Given the description of an element on the screen output the (x, y) to click on. 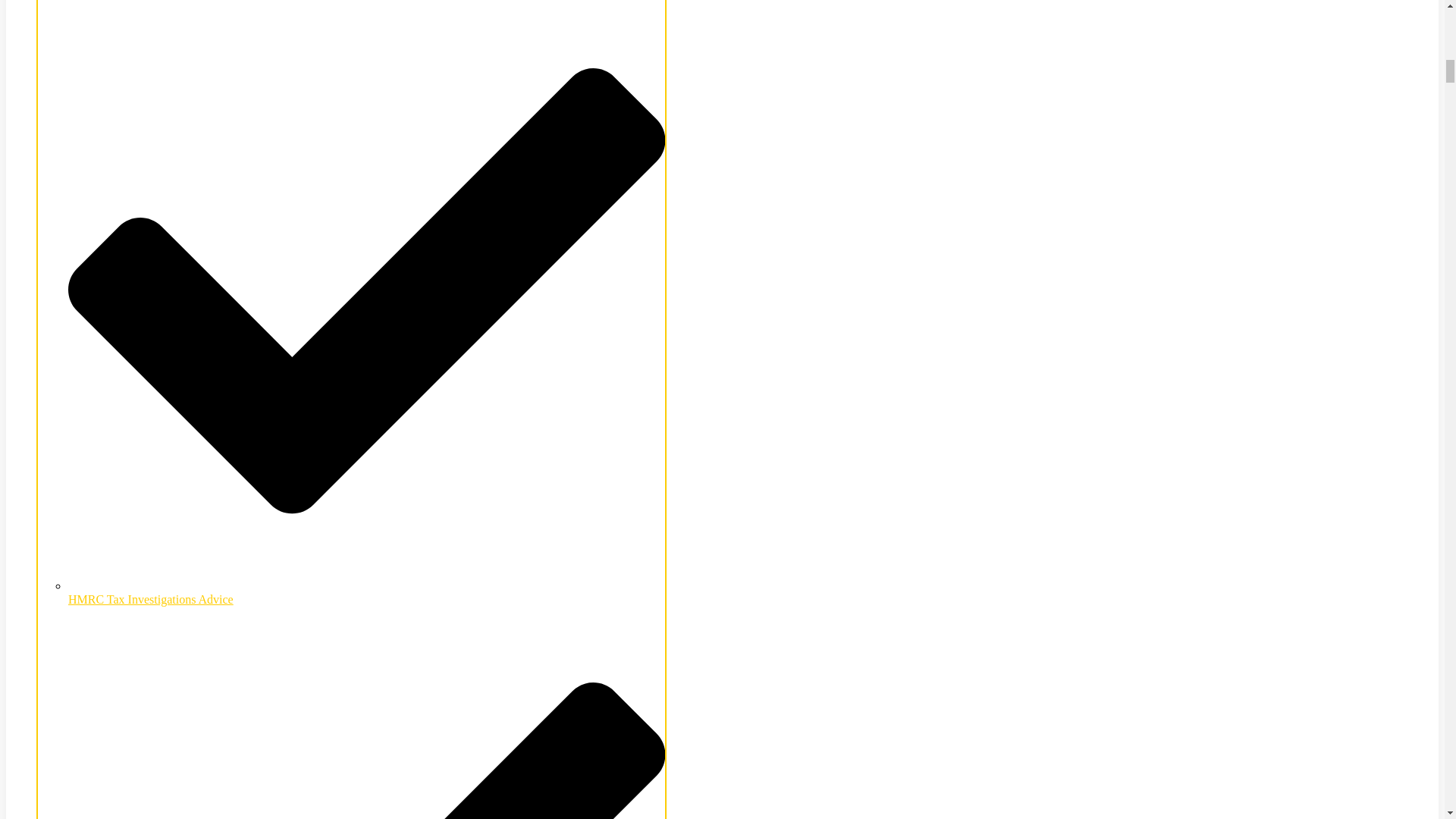
HMRC Tax Investigations Advice (366, 592)
